Given the description of an element on the screen output the (x, y) to click on. 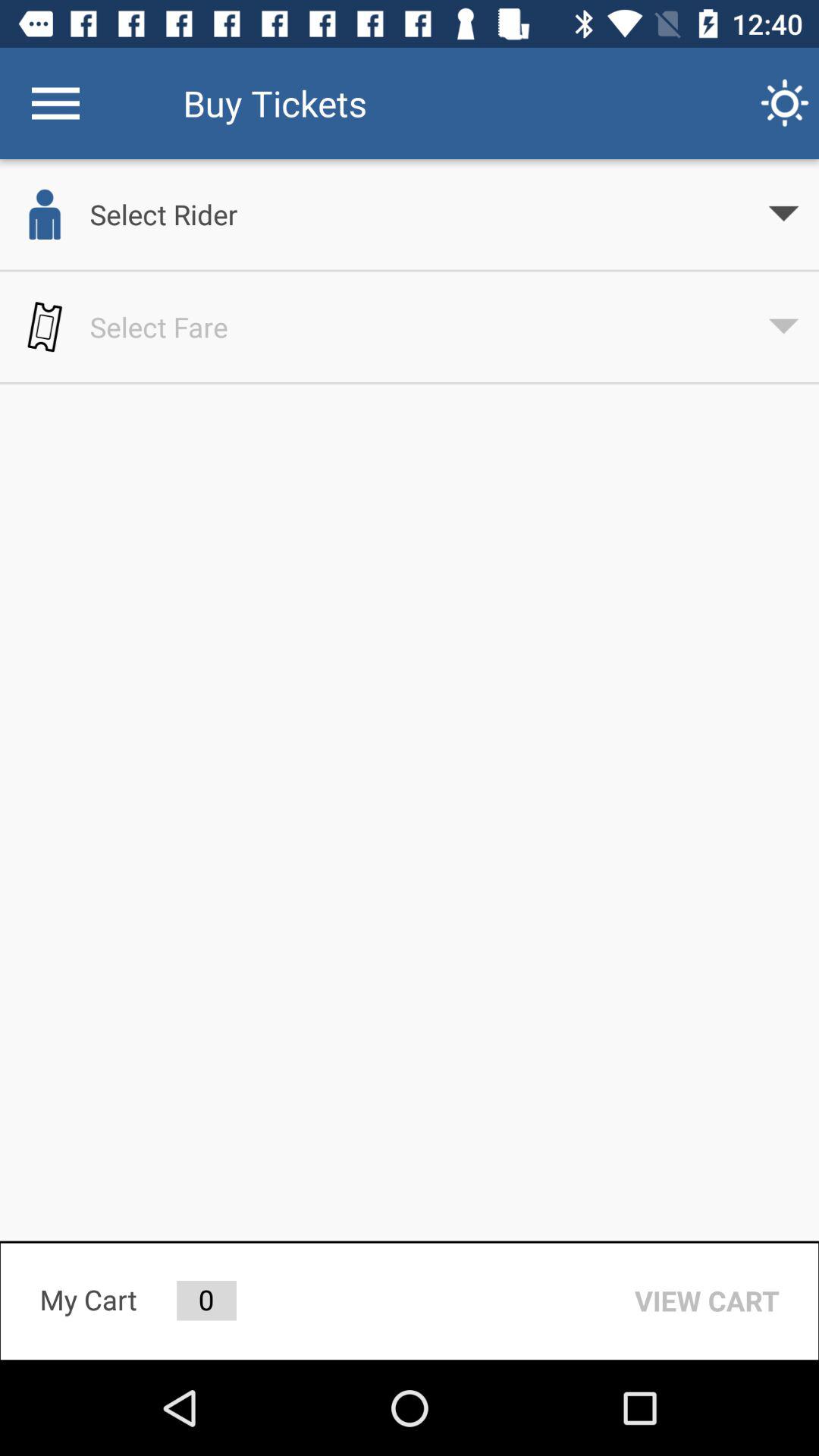
tap icon at the bottom right corner (706, 1300)
